Given the description of an element on the screen output the (x, y) to click on. 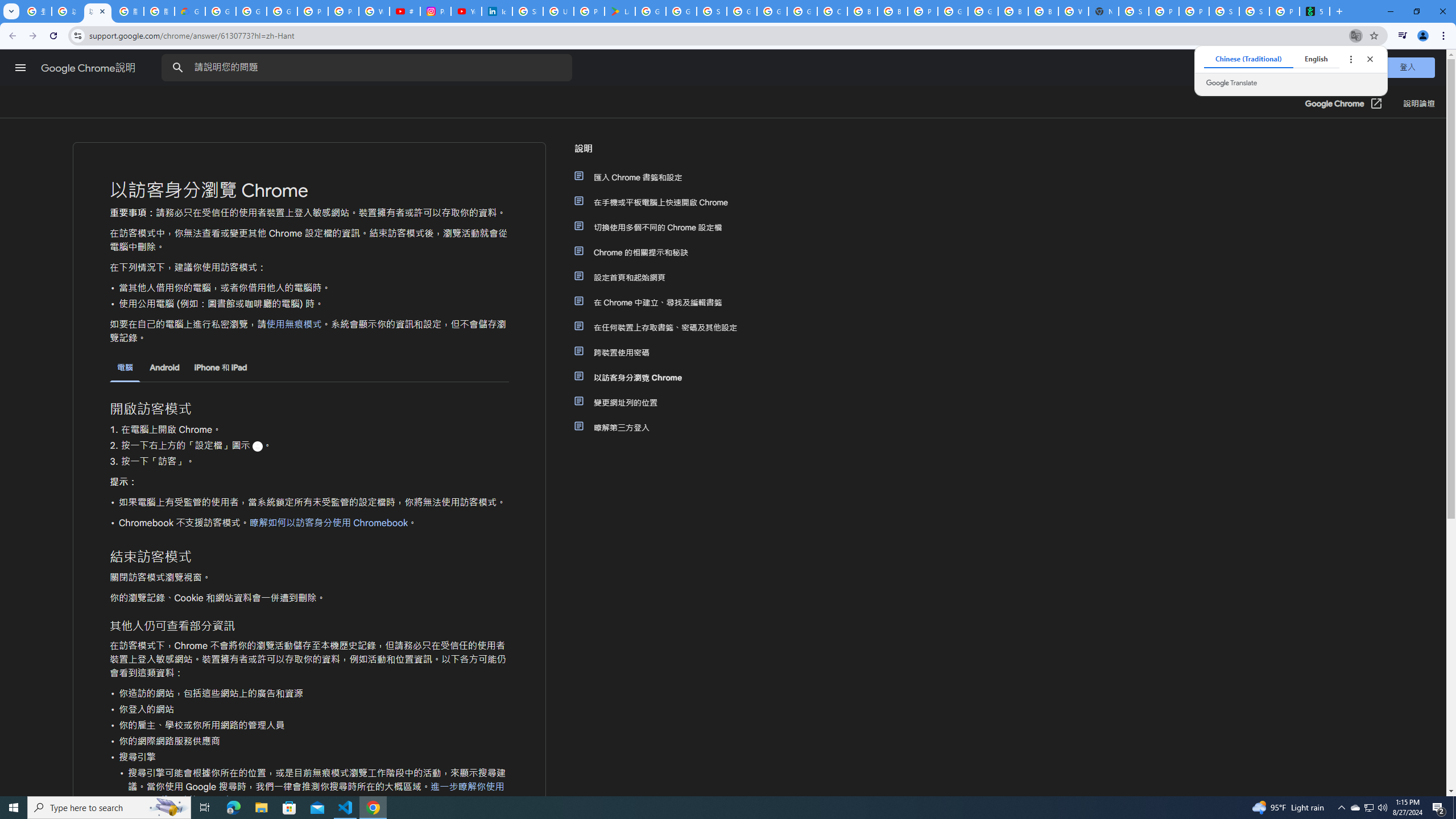
Browse Chrome as a guest - Computer - Google Chrome Help (892, 11)
Chinese (Traditional) (1248, 58)
Browse Chrome as a guest - Computer - Google Chrome Help (1042, 11)
